Given the description of an element on the screen output the (x, y) to click on. 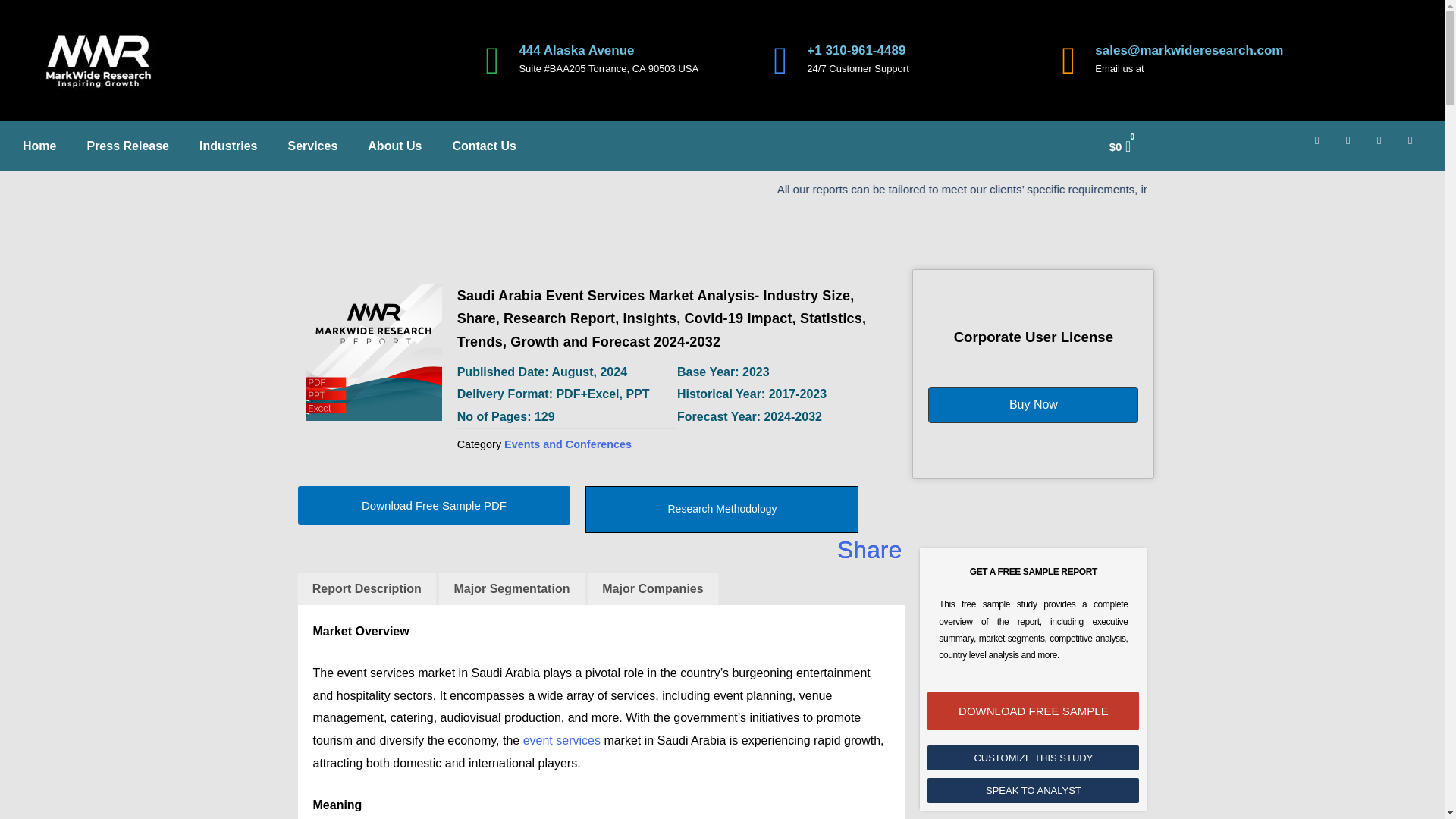
Facebook-f (1322, 146)
Research Methodology (722, 509)
Linkedin-in (1353, 146)
Services (312, 145)
Markwide Research (372, 352)
Home (39, 145)
Contact Us (483, 145)
Industries (228, 145)
About Us (394, 145)
Press Release (127, 145)
